Given the description of an element on the screen output the (x, y) to click on. 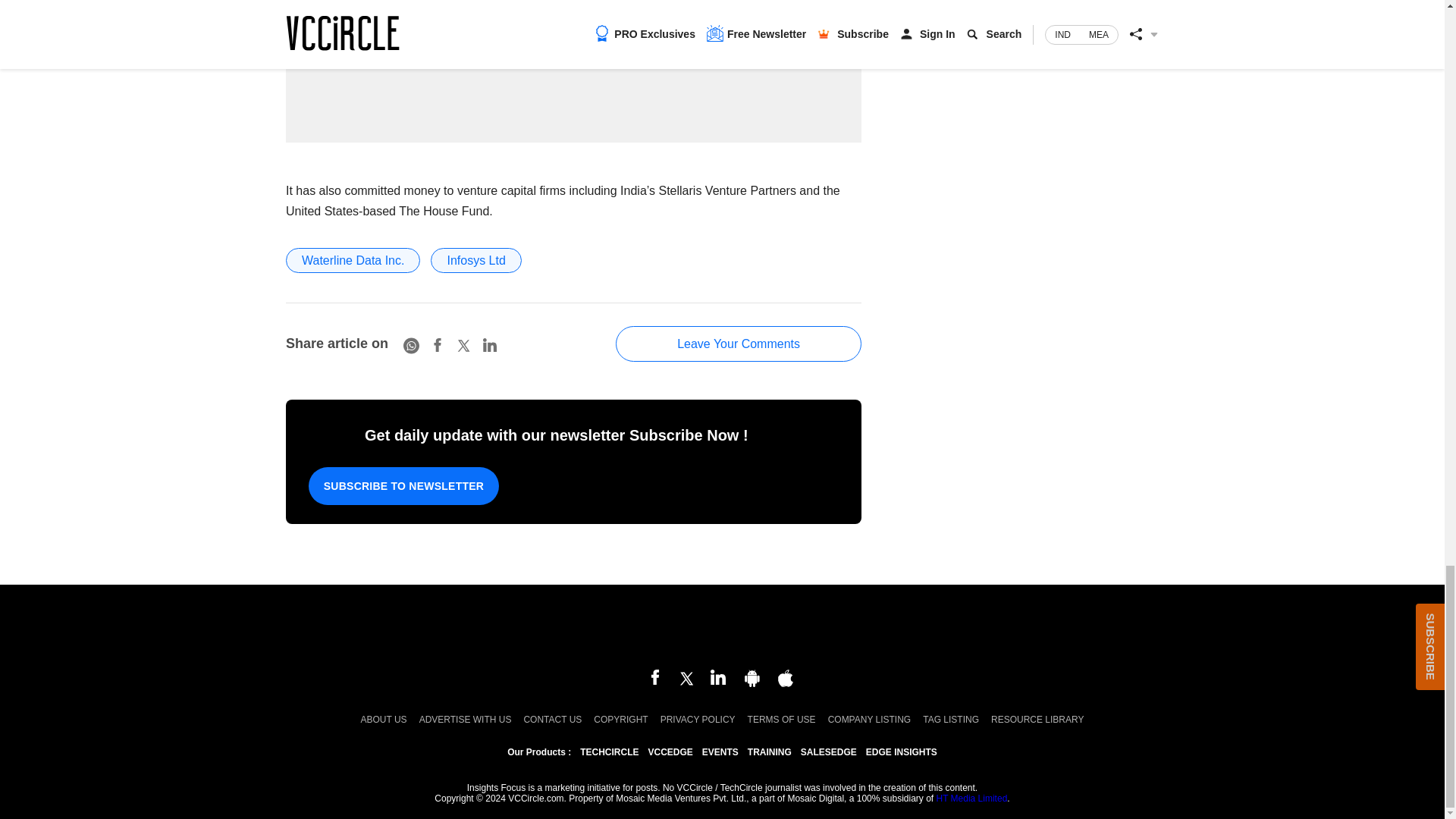
Leave Your Comments (738, 343)
Waterline Data Inc. (352, 260)
SUBSCRIBE TO NEWSLETTER (403, 485)
Mosaic Digital (721, 628)
Infosys Ltd (475, 260)
